Given the description of an element on the screen output the (x, y) to click on. 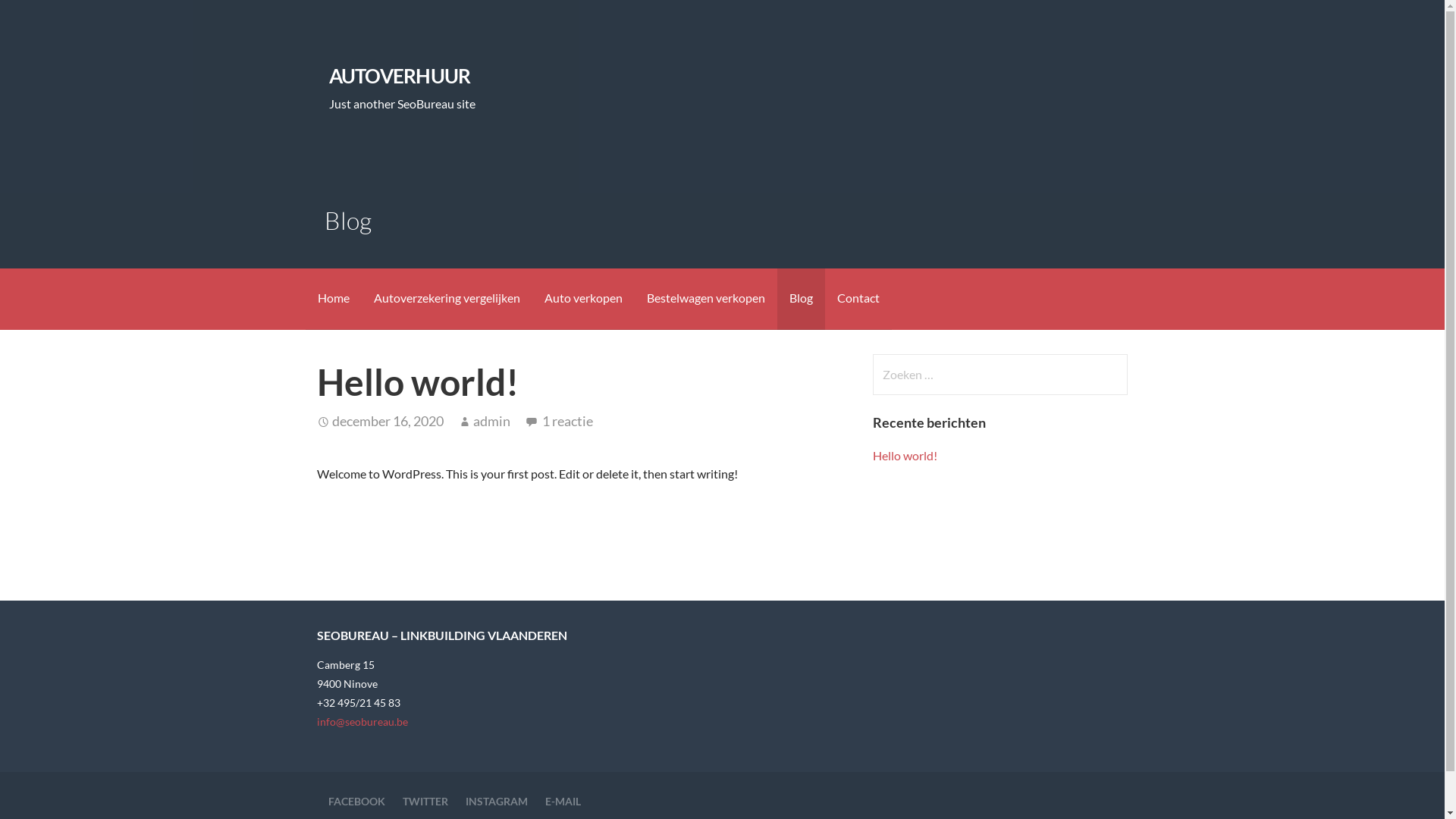
Zoeken Element type: text (42, 18)
Contact Element type: text (858, 298)
1 reactie Element type: text (567, 420)
Autoverzekering vergelijken Element type: text (445, 298)
Bestelwagen verkopen Element type: text (704, 298)
Auto verkopen Element type: text (583, 298)
E-MAIL Element type: text (562, 800)
AUTOVERHUUR Element type: text (399, 75)
INSTAGRAM Element type: text (496, 800)
Home Element type: text (332, 298)
Hello world! Element type: text (904, 455)
TWITTER Element type: text (424, 800)
FACEBOOK Element type: text (355, 800)
admin Element type: text (491, 420)
Blog Element type: text (800, 298)
info@seobureau.be Element type: text (361, 721)
